Given the description of an element on the screen output the (x, y) to click on. 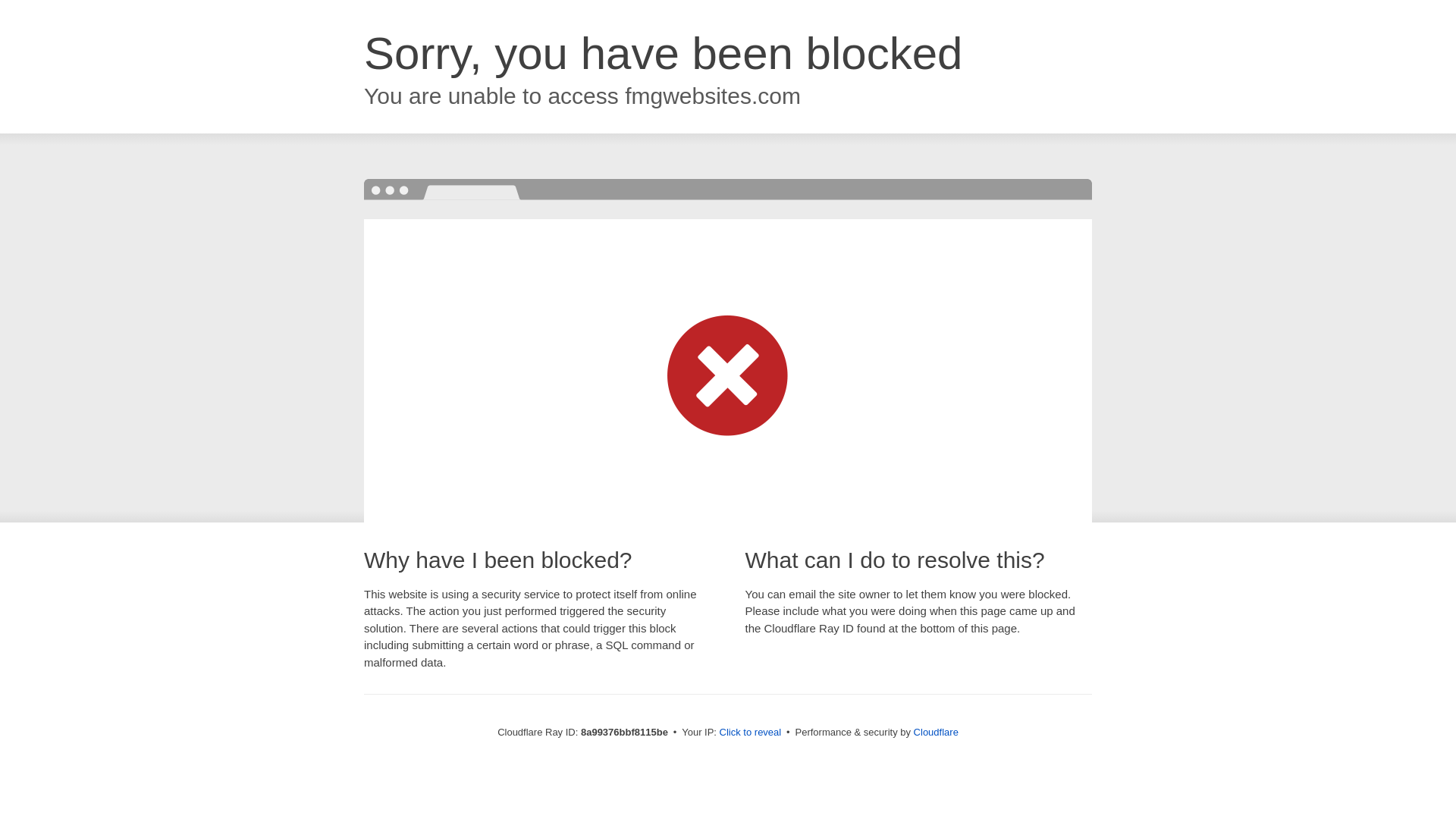
Click to reveal (750, 732)
Cloudflare (936, 731)
